Given the description of an element on the screen output the (x, y) to click on. 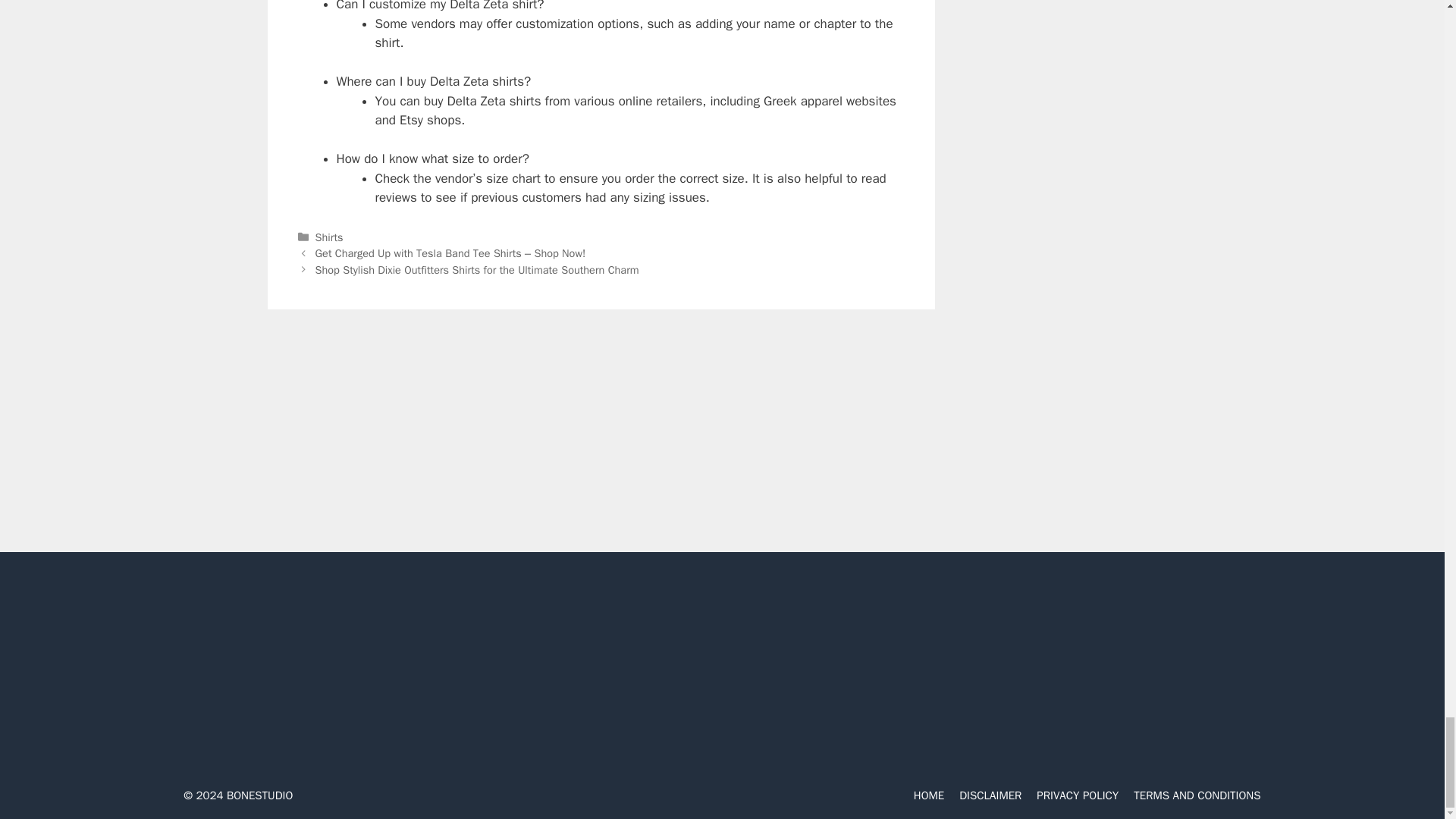
HOME (928, 795)
PRIVACY POLICY (1077, 795)
BONESTUDIO (260, 795)
TERMS AND CONDITIONS (1197, 795)
DISCLAIMER (990, 795)
Shirts (329, 237)
